Given the description of an element on the screen output the (x, y) to click on. 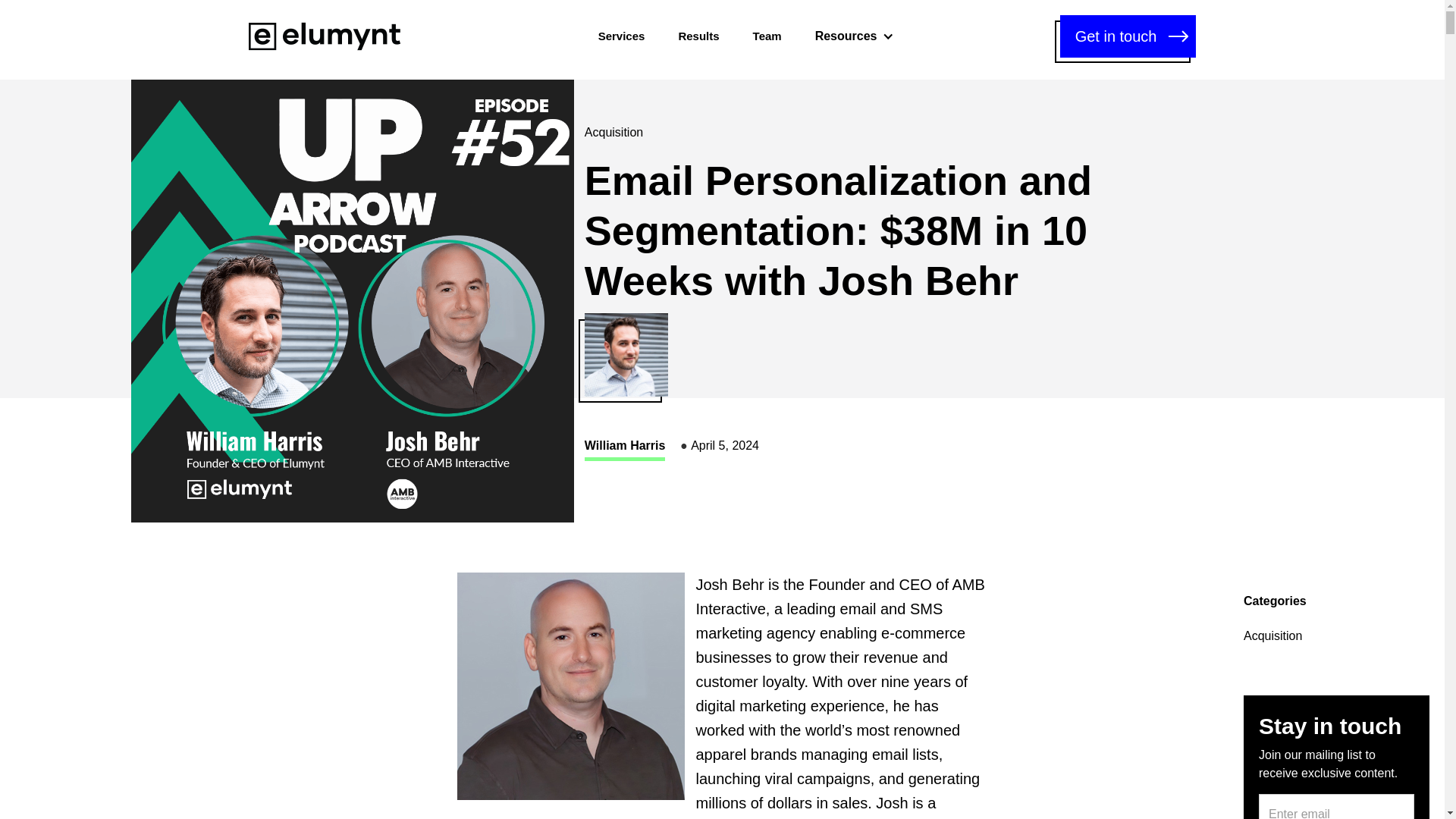
Services (621, 36)
William Harris (625, 447)
Results (698, 36)
Team (767, 36)
Get in touch (1127, 36)
Acquisition (1272, 635)
